Given the description of an element on the screen output the (x, y) to click on. 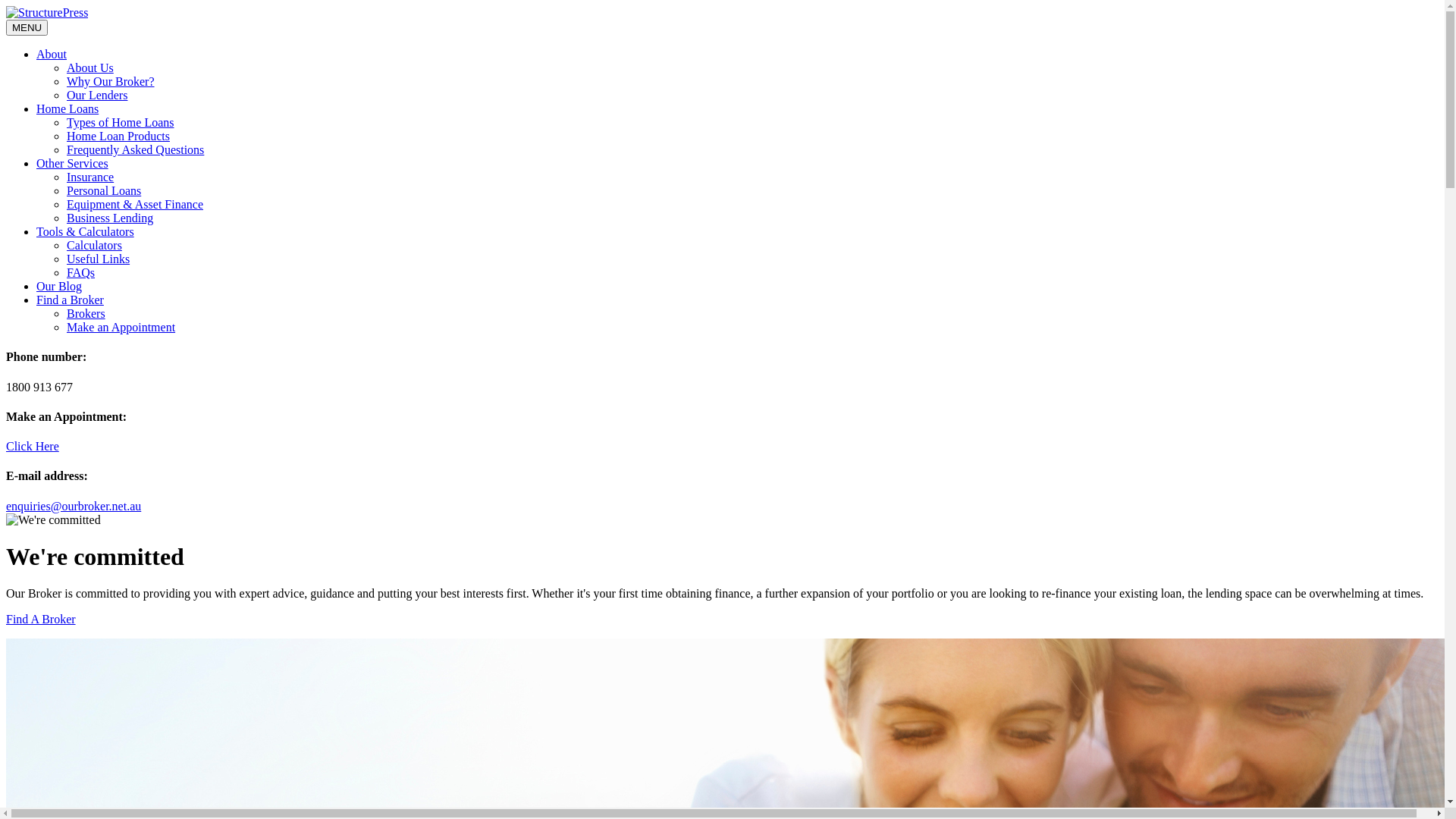
Brokers Element type: text (85, 313)
Business Lending Element type: text (109, 217)
Insurance Element type: text (89, 176)
Personal Loans Element type: text (103, 190)
Types of Home Loans Element type: text (120, 122)
Equipment & Asset Finance Element type: text (134, 203)
About Element type: text (51, 53)
Find a Broker Element type: text (69, 299)
enquiries@ourbroker.net.au Element type: text (73, 505)
Other Services Element type: text (72, 162)
Home Loans Element type: text (67, 108)
About Us Element type: text (89, 67)
Our Blog Element type: text (58, 285)
Calculators Element type: text (94, 244)
Click Here Element type: text (32, 445)
MENU Element type: text (26, 27)
Why Our Broker? Element type: text (110, 81)
Make an Appointment Element type: text (120, 326)
Find A Broker Element type: text (40, 618)
Our Lenders Element type: text (96, 94)
FAQs Element type: text (80, 272)
Useful Links Element type: text (97, 258)
Home Loan Products Element type: text (117, 135)
Frequently Asked Questions Element type: text (134, 149)
Tools & Calculators Element type: text (85, 231)
